Given the description of an element on the screen output the (x, y) to click on. 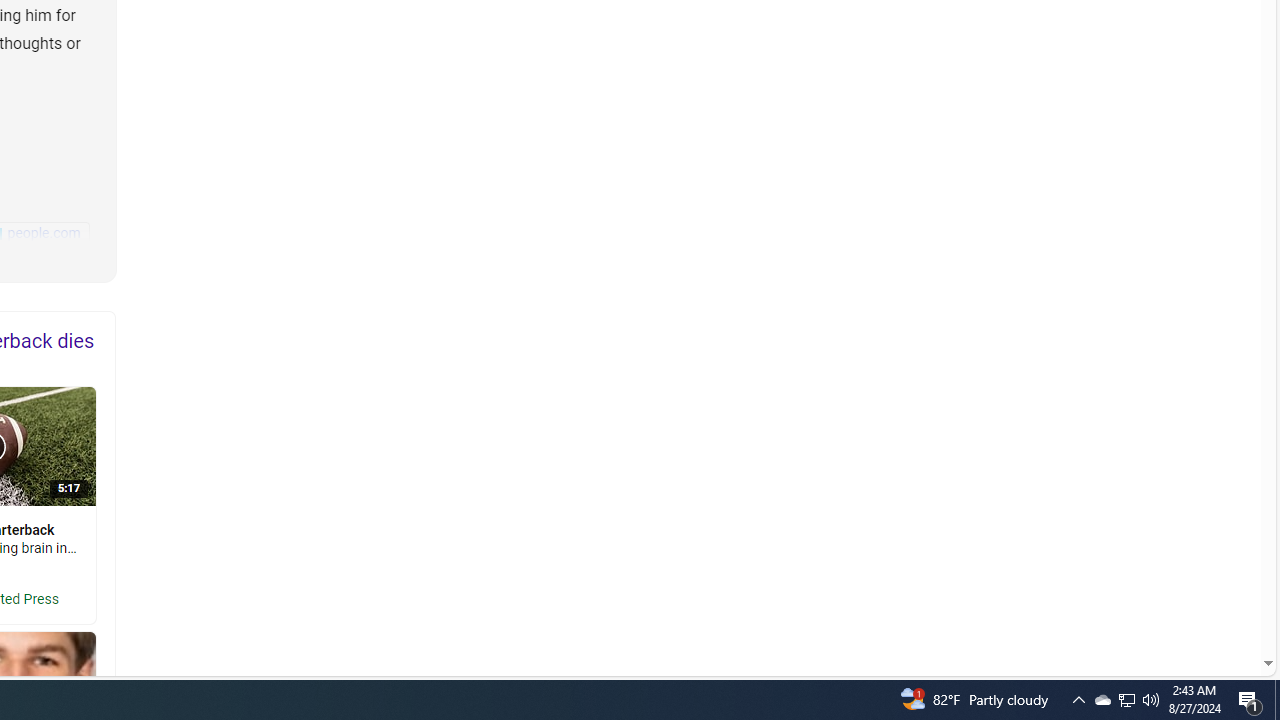
AutomationID: mfa_root (1192, 603)
Search more (1222, 604)
